Given the description of an element on the screen output the (x, y) to click on. 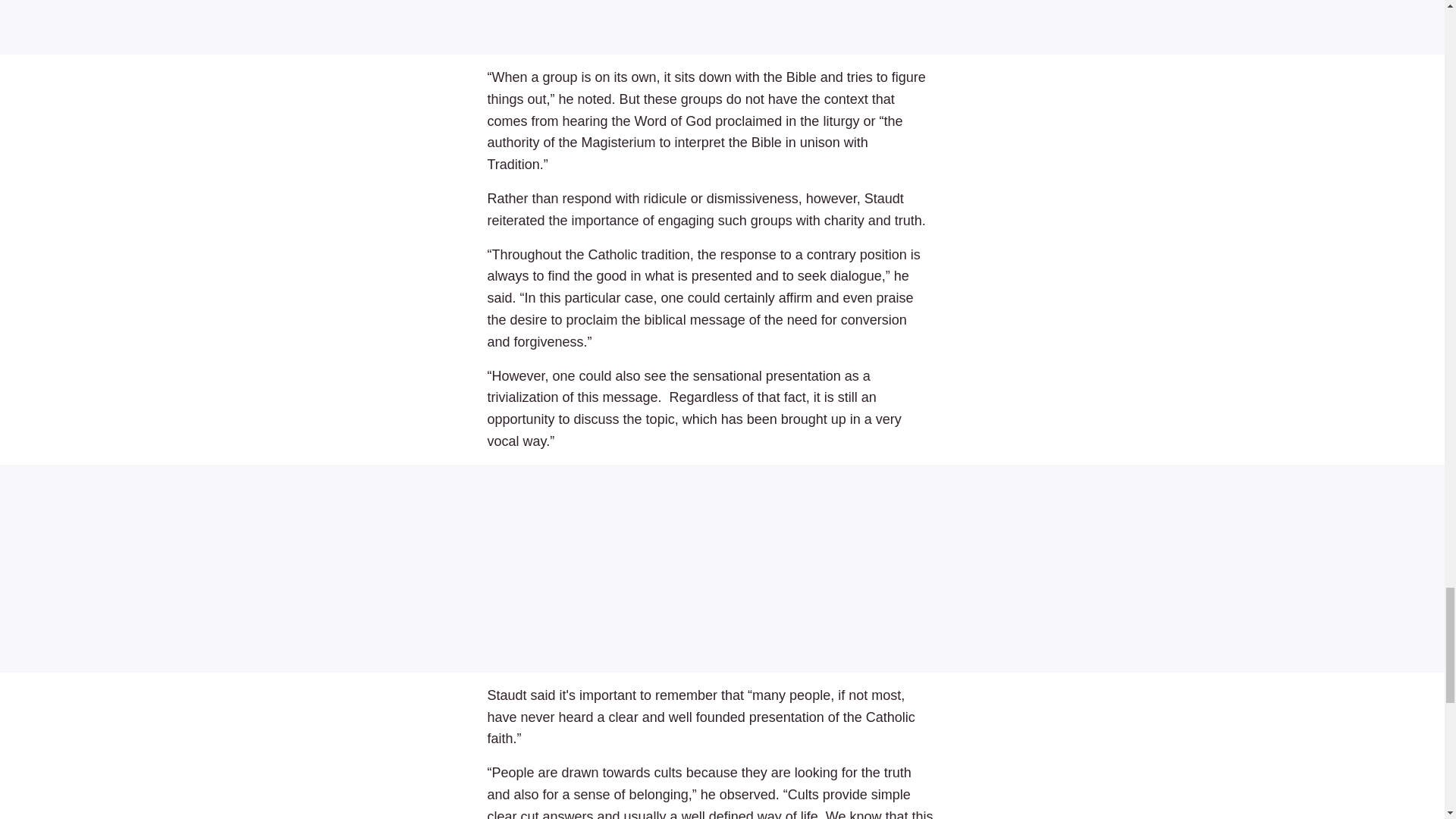
3rd party ad content (721, 22)
3rd party ad content (721, 568)
